Given the description of an element on the screen output the (x, y) to click on. 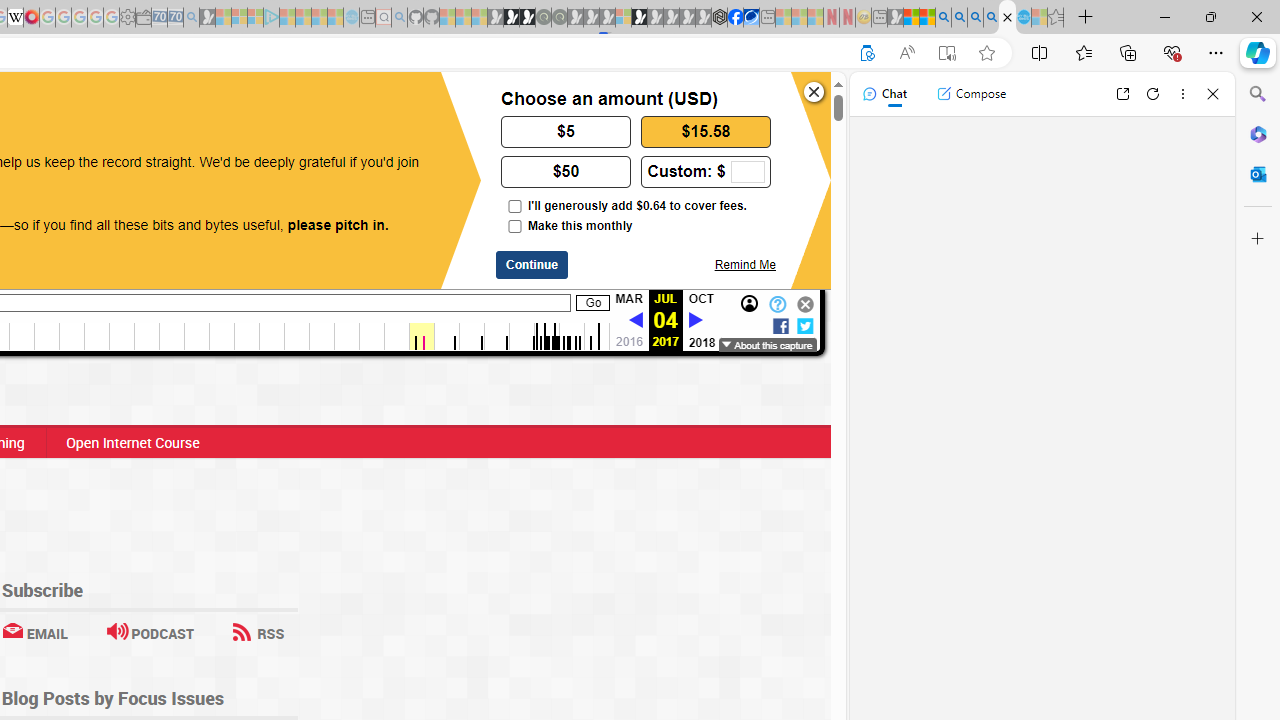
DONATE (177, 108)
MSN - Sleeping (895, 17)
RSS (258, 632)
PODCAST (150, 632)
Future Focus Report 2024 - Sleeping (559, 17)
2018 (701, 341)
Nordace | Facebook (735, 17)
